Given the description of an element on the screen output the (x, y) to click on. 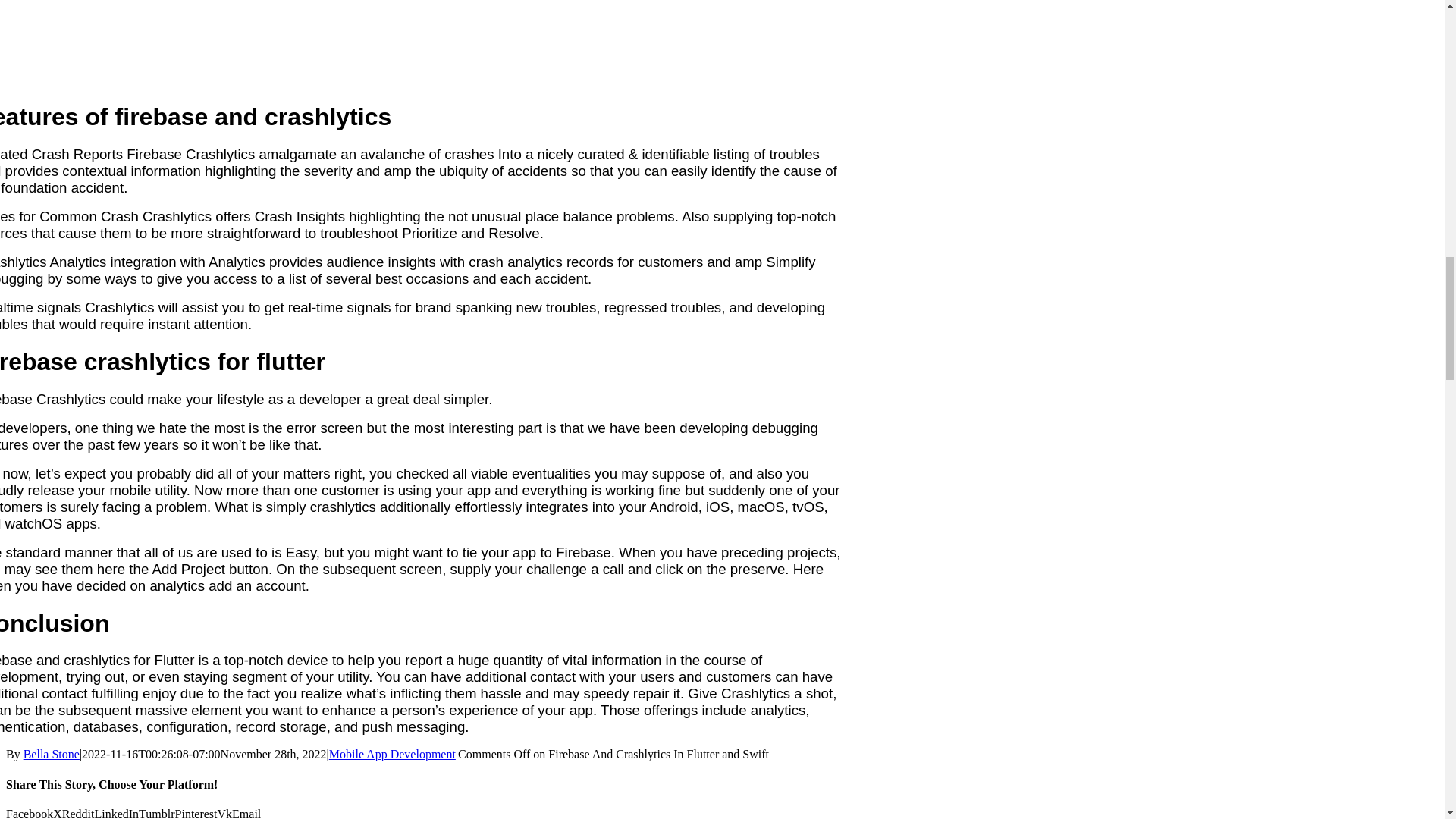
Posts by Bella Stone (51, 753)
Email (245, 813)
Reddit (78, 813)
Bella Stone (51, 753)
LinkedIn (116, 813)
Email (245, 813)
Vk (224, 813)
Tumblr (156, 813)
Reddit (78, 813)
Vk (224, 813)
Firebase And Crashlytics In Flutter and Swift (410, 42)
Pinterest (195, 813)
Tumblr (156, 813)
Facebook (28, 813)
Mobile App Development (392, 753)
